Given the description of an element on the screen output the (x, y) to click on. 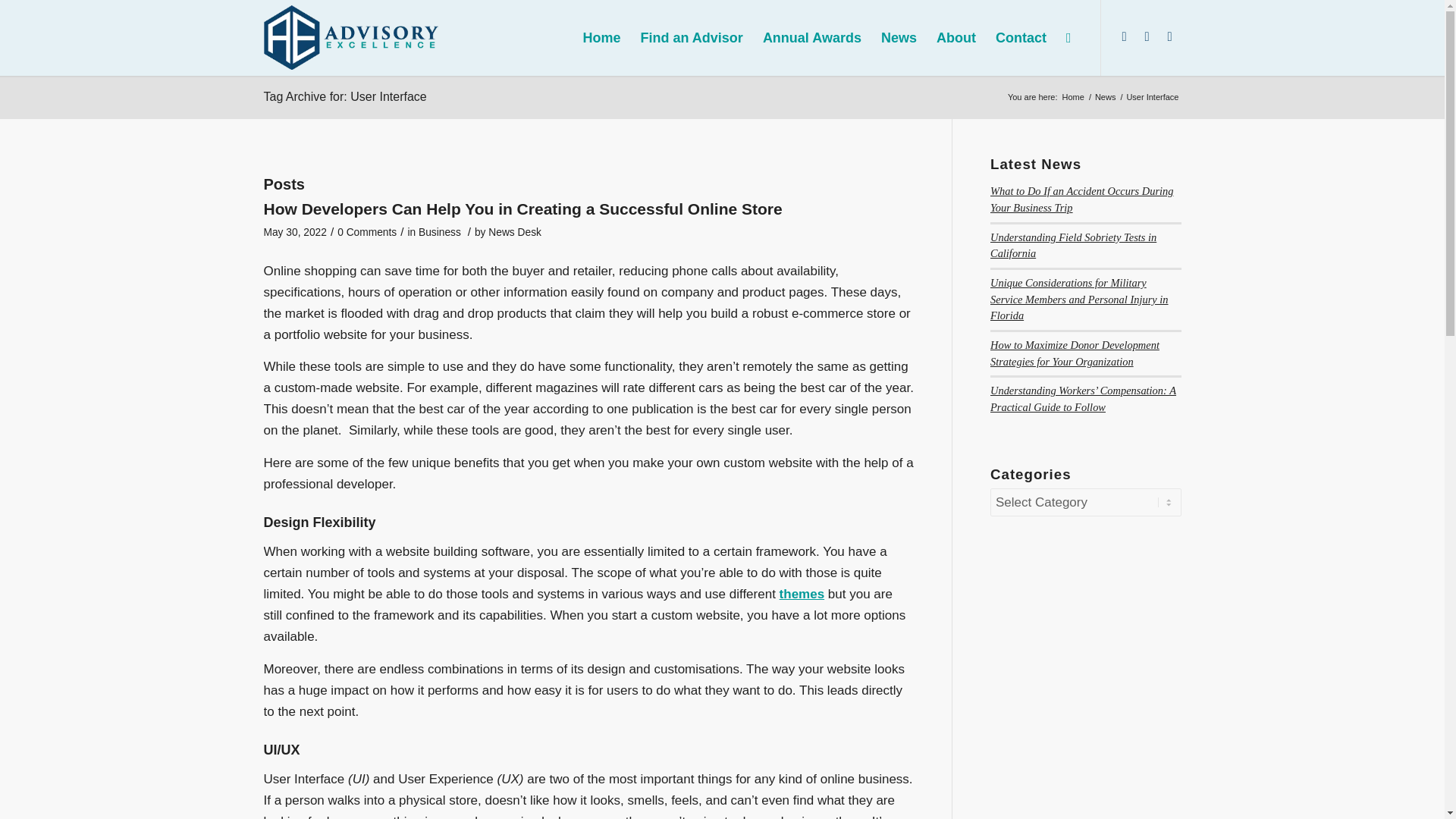
News Desk (514, 232)
Facebook (1169, 36)
Annual Awards (811, 38)
News (1105, 97)
Home (1072, 97)
Business (440, 232)
Contact (1021, 38)
What to Do If an Accident Occurs During Your Business Trip (1081, 199)
